Given the description of an element on the screen output the (x, y) to click on. 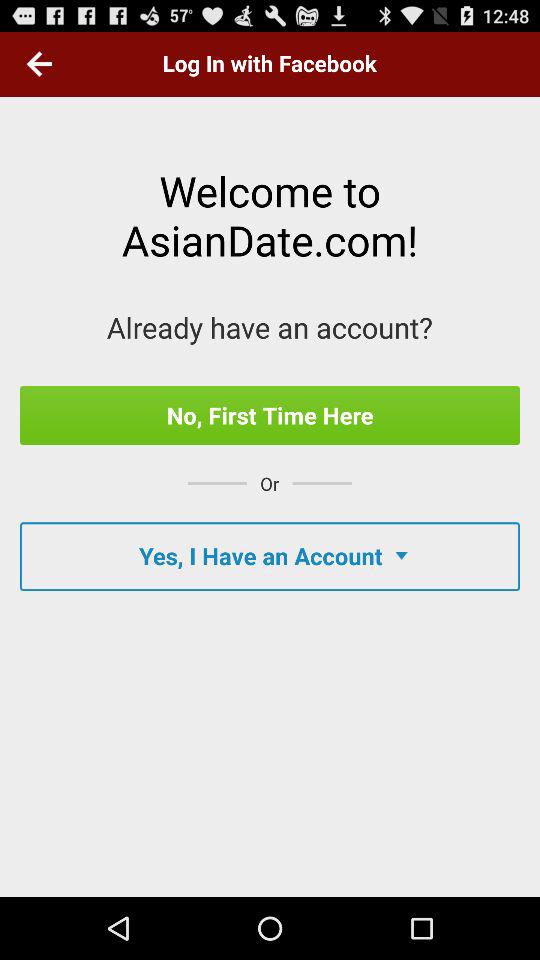
open the item below the already have an icon (269, 415)
